Given the description of an element on the screen output the (x, y) to click on. 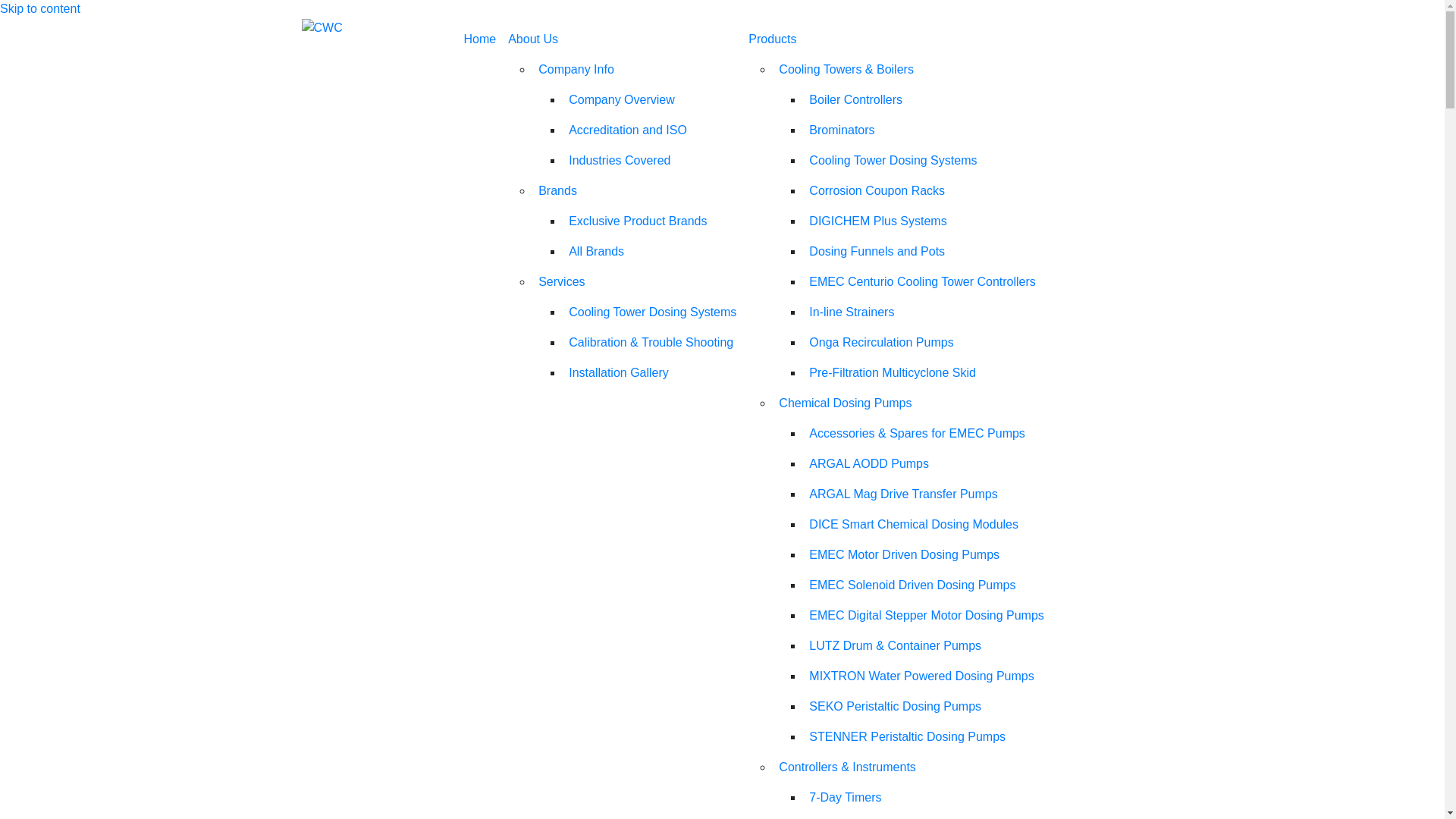
DICE Smart Chemical Dosing Modules Element type: text (926, 524)
ARGAL AODD Pumps Element type: text (926, 463)
Cooling Towers & Boilers Element type: text (910, 69)
LUTZ Drum & Container Pumps Element type: text (926, 645)
MIXTRON Water Powered Dosing Pumps Element type: text (926, 676)
Accreditation and ISO Element type: text (652, 130)
Company Overview Element type: text (652, 99)
Dosing Funnels and Pots Element type: text (926, 251)
Company Info Element type: text (637, 69)
DIGICHEM Plus Systems Element type: text (926, 221)
All Brands Element type: text (652, 251)
EMEC Centurio Cooling Tower Controllers Element type: text (926, 281)
Chemical Dosing Pumps Element type: text (910, 403)
Exclusive Product Brands Element type: text (652, 221)
Brands Element type: text (637, 190)
Calibration & Trouble Shooting Element type: text (652, 342)
Controllers & Instruments Element type: text (910, 767)
Installation Gallery Element type: text (652, 372)
Home Element type: text (480, 39)
Boiler Controllers Element type: text (926, 99)
ARGAL Mag Drive Transfer Pumps Element type: text (926, 494)
SEKO Peristaltic Dosing Pumps Element type: text (926, 706)
Industries Covered Element type: text (652, 160)
EMEC Digital Stepper Motor Dosing Pumps Element type: text (926, 615)
EMEC Motor Driven Dosing Pumps Element type: text (926, 554)
Accessories & Spares for EMEC Pumps Element type: text (926, 433)
Cooling Tower Dosing Systems Element type: text (926, 160)
7-Day Timers Element type: text (926, 797)
Corrosion Coupon Racks Element type: text (926, 190)
Pre-Filtration Multicyclone Skid Element type: text (926, 372)
Brominators Element type: text (926, 130)
Products Element type: text (895, 39)
Cooling Tower Dosing Systems Element type: text (652, 312)
Onga Recirculation Pumps Element type: text (926, 342)
About Us Element type: text (622, 39)
STENNER Peristaltic Dosing Pumps Element type: text (926, 736)
Services Element type: text (637, 281)
In-line Strainers Element type: text (926, 312)
Skip to content Element type: text (40, 8)
EMEC Solenoid Driven Dosing Pumps Element type: text (926, 585)
